Given the description of an element on the screen output the (x, y) to click on. 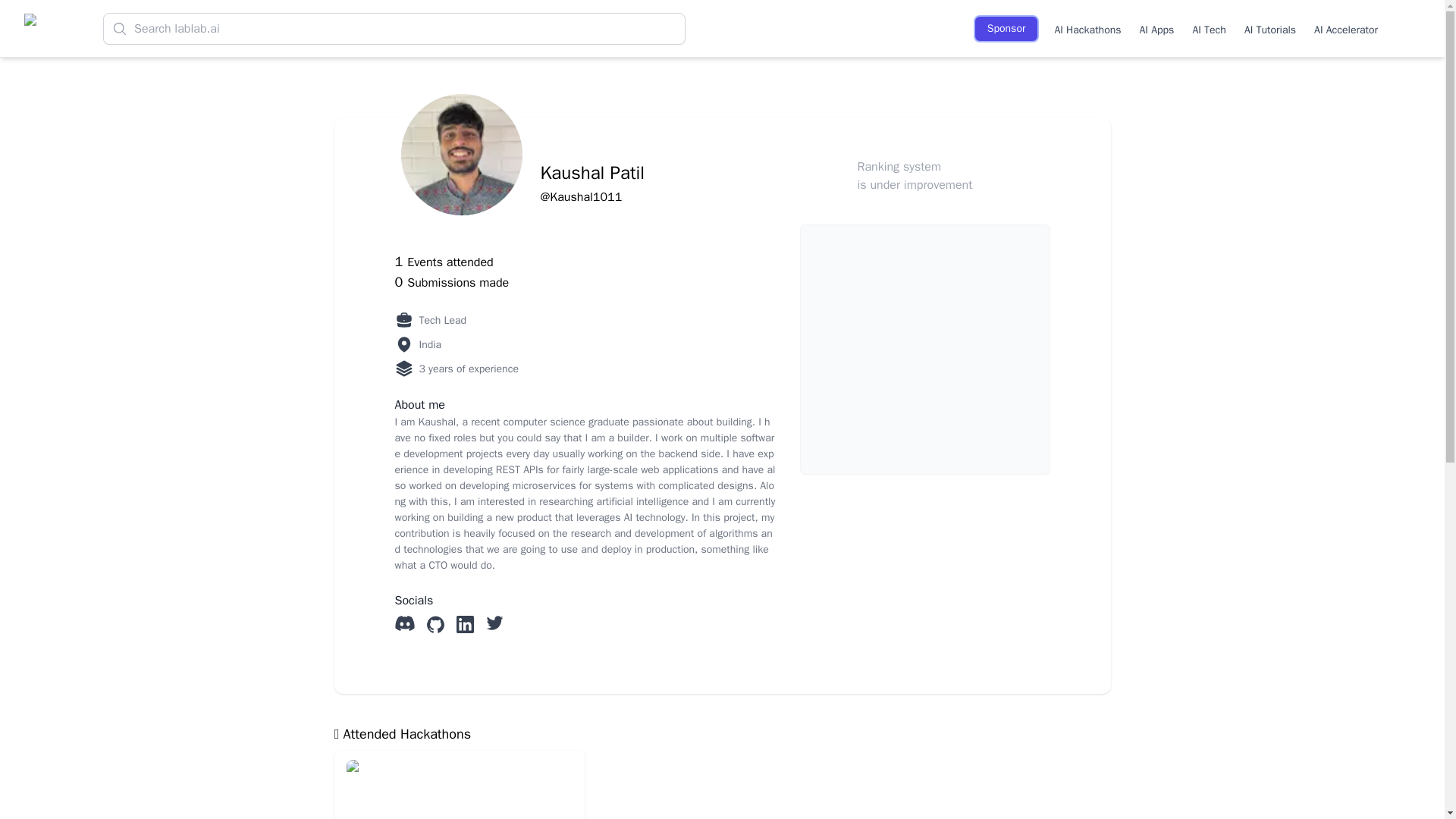
AI Hackathons (1087, 28)
AI Apps (1157, 28)
Sponsor (1006, 28)
AI Accelerator (1345, 28)
AI Tech (1208, 28)
AI Tutorials (1269, 28)
